Given the description of an element on the screen output the (x, y) to click on. 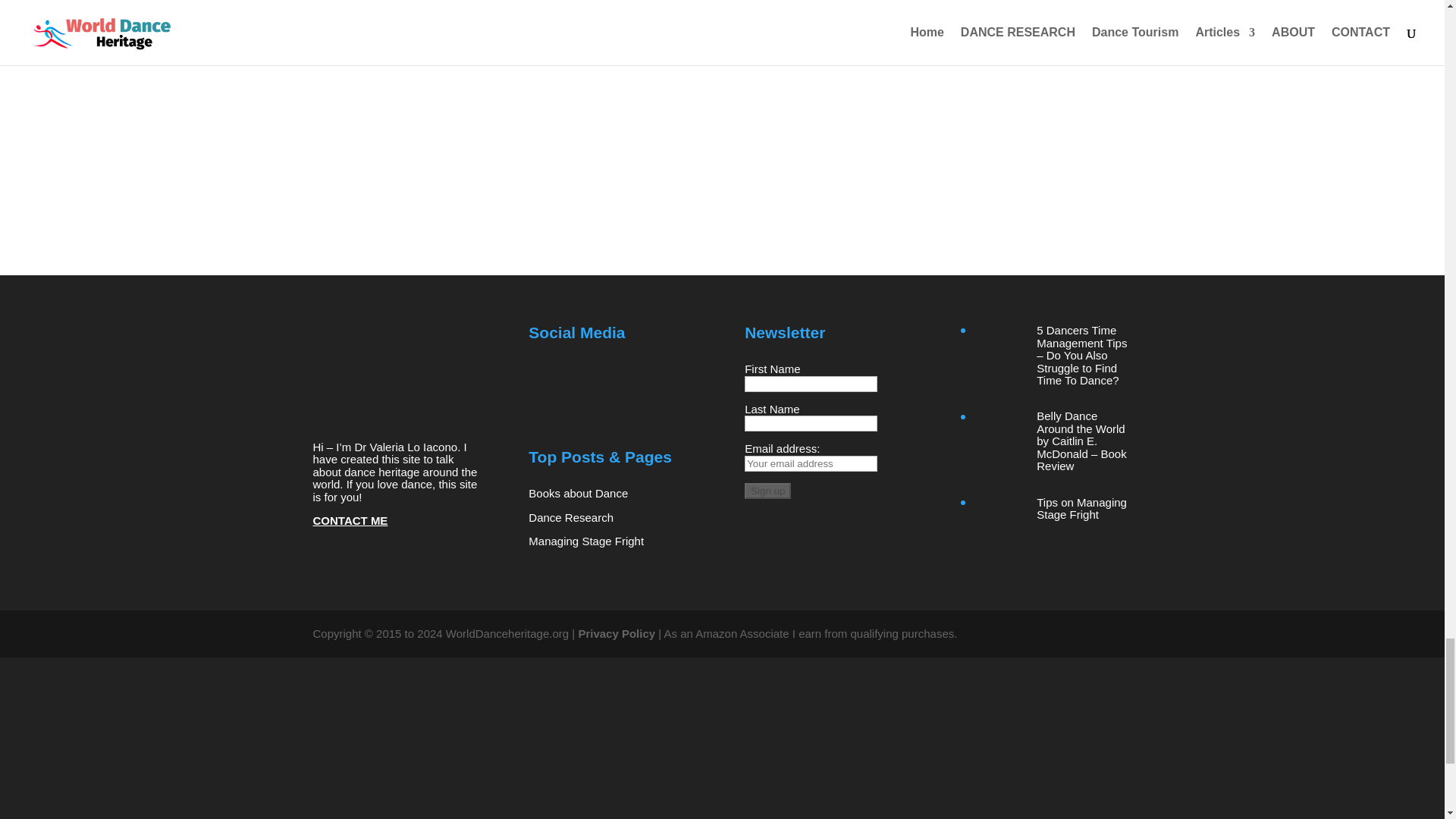
Sign up (767, 490)
